Given the description of an element on the screen output the (x, y) to click on. 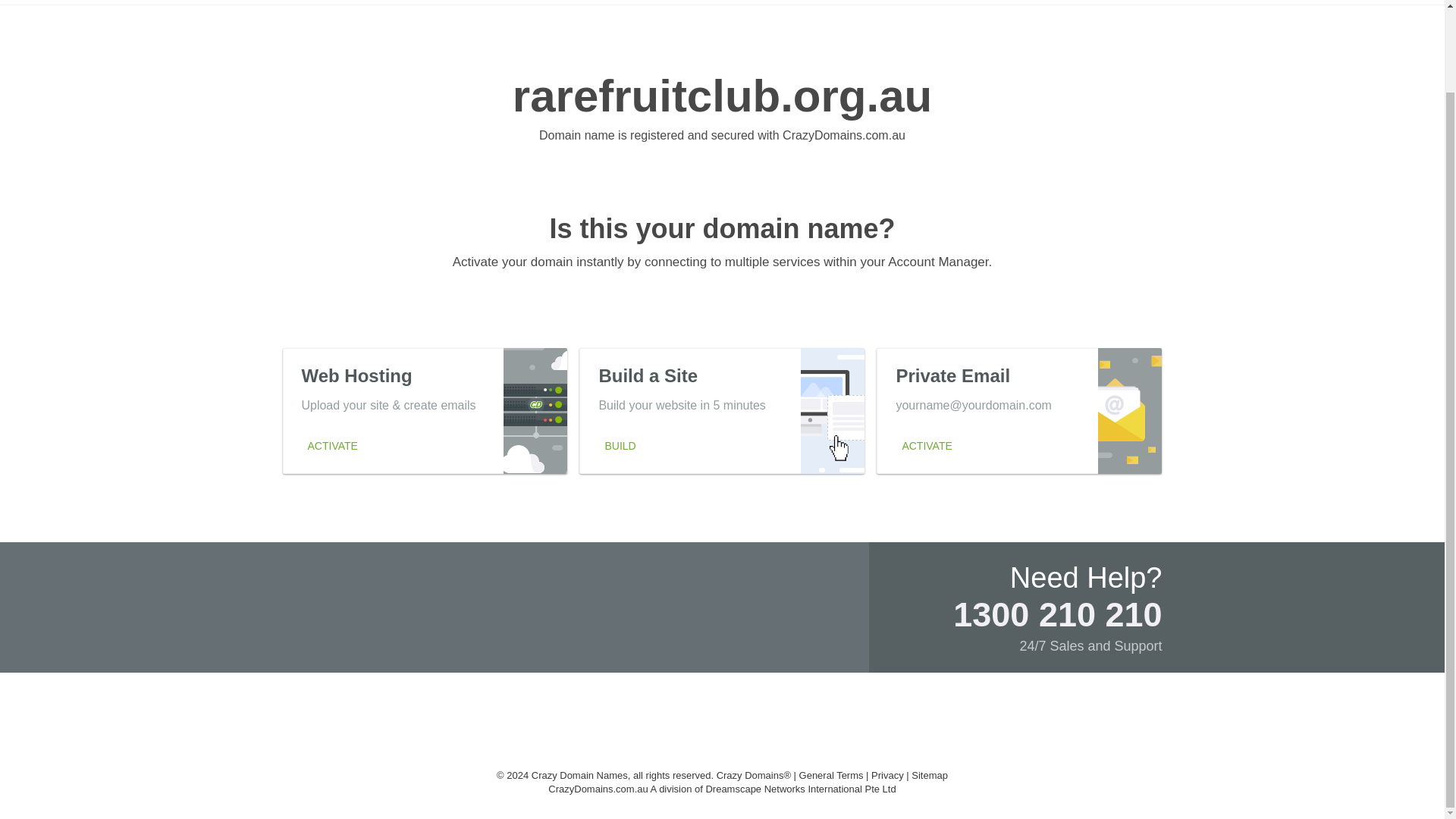
General Terms (831, 775)
1300 210 210 (721, 410)
Security (1057, 614)
Email (1218, 2)
Domain (1302, 2)
Hosting (792, 2)
Online Marketing (882, 2)
Websites (1099, 2)
Privacy (976, 2)
